Given the description of an element on the screen output the (x, y) to click on. 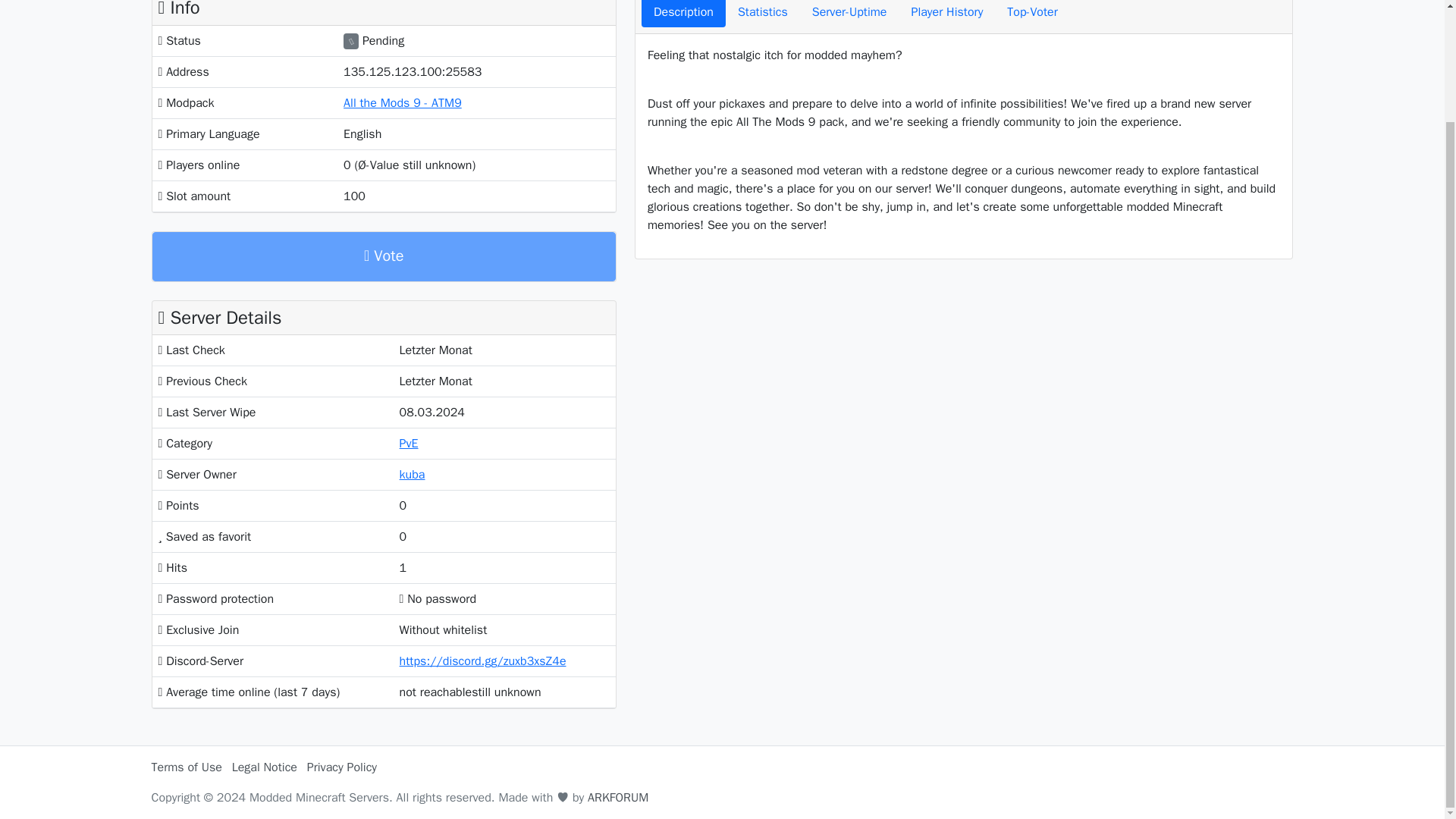
kuba (411, 474)
Statistics (762, 13)
Description (683, 13)
Legal Notice (264, 767)
07.07.2024 07:41:00 (504, 381)
07.07.2024 08:00:52 (504, 350)
Terms of Use (186, 767)
Server-Uptime (849, 13)
Player History (946, 13)
Vote (383, 256)
